Given the description of an element on the screen output the (x, y) to click on. 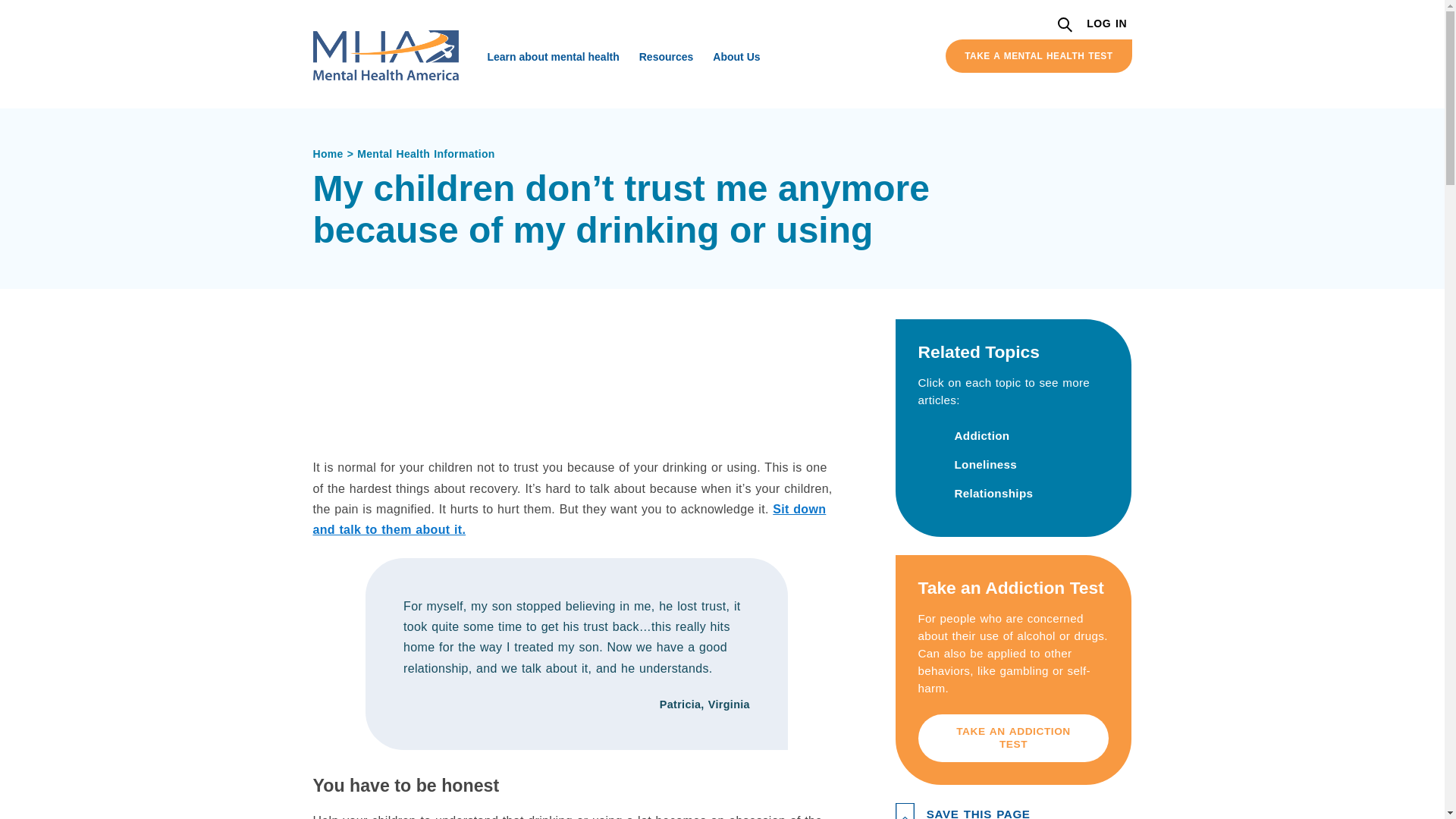
LOG IN (1106, 23)
Home (334, 153)
SEARCH (1066, 26)
Resources (665, 56)
About Us (736, 56)
Learn about mental health (552, 56)
TAKE A MENTAL HEALTH TEST (1037, 55)
